Given the description of an element on the screen output the (x, y) to click on. 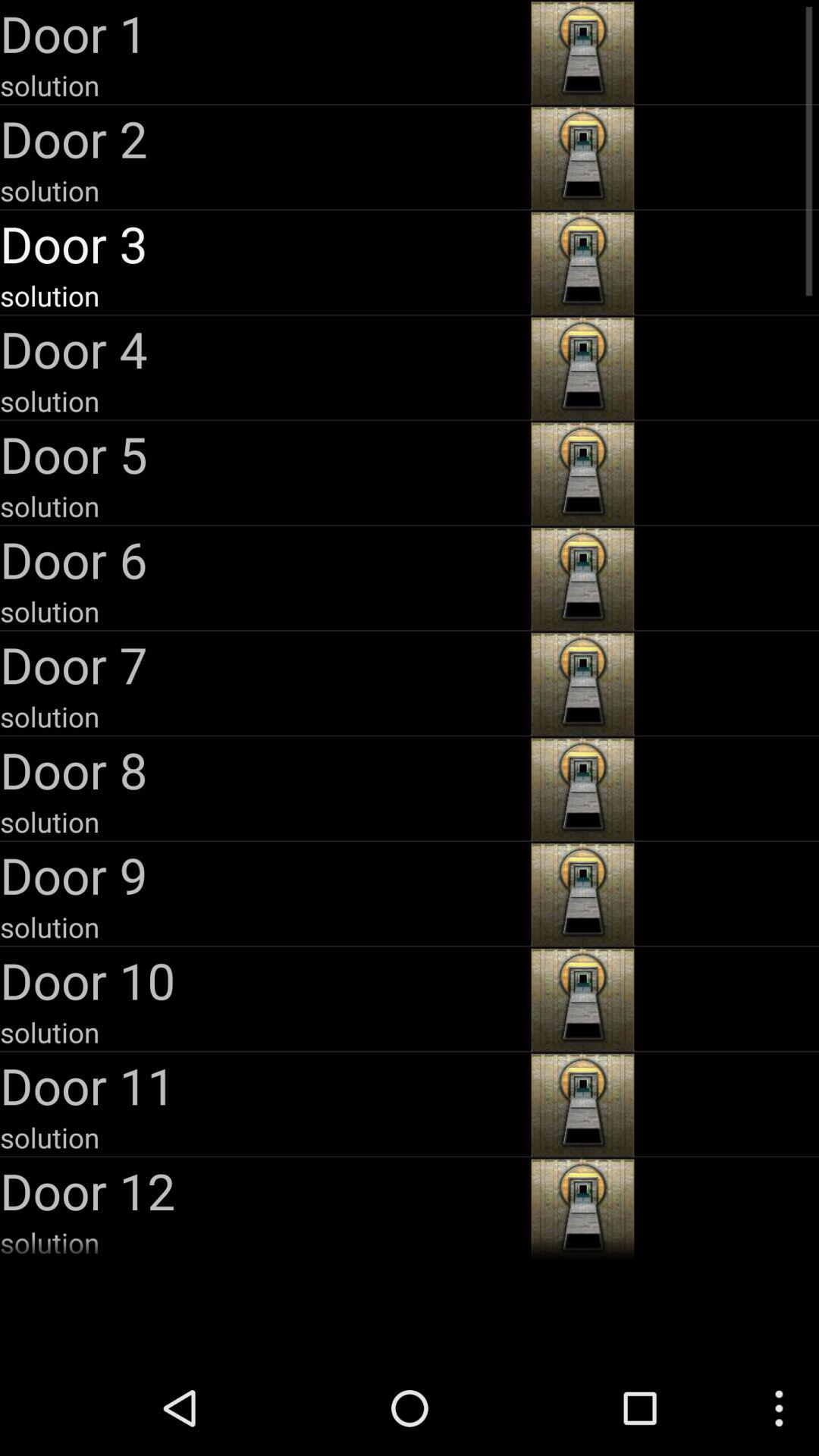
press item above solution item (263, 559)
